Given the description of an element on the screen output the (x, y) to click on. 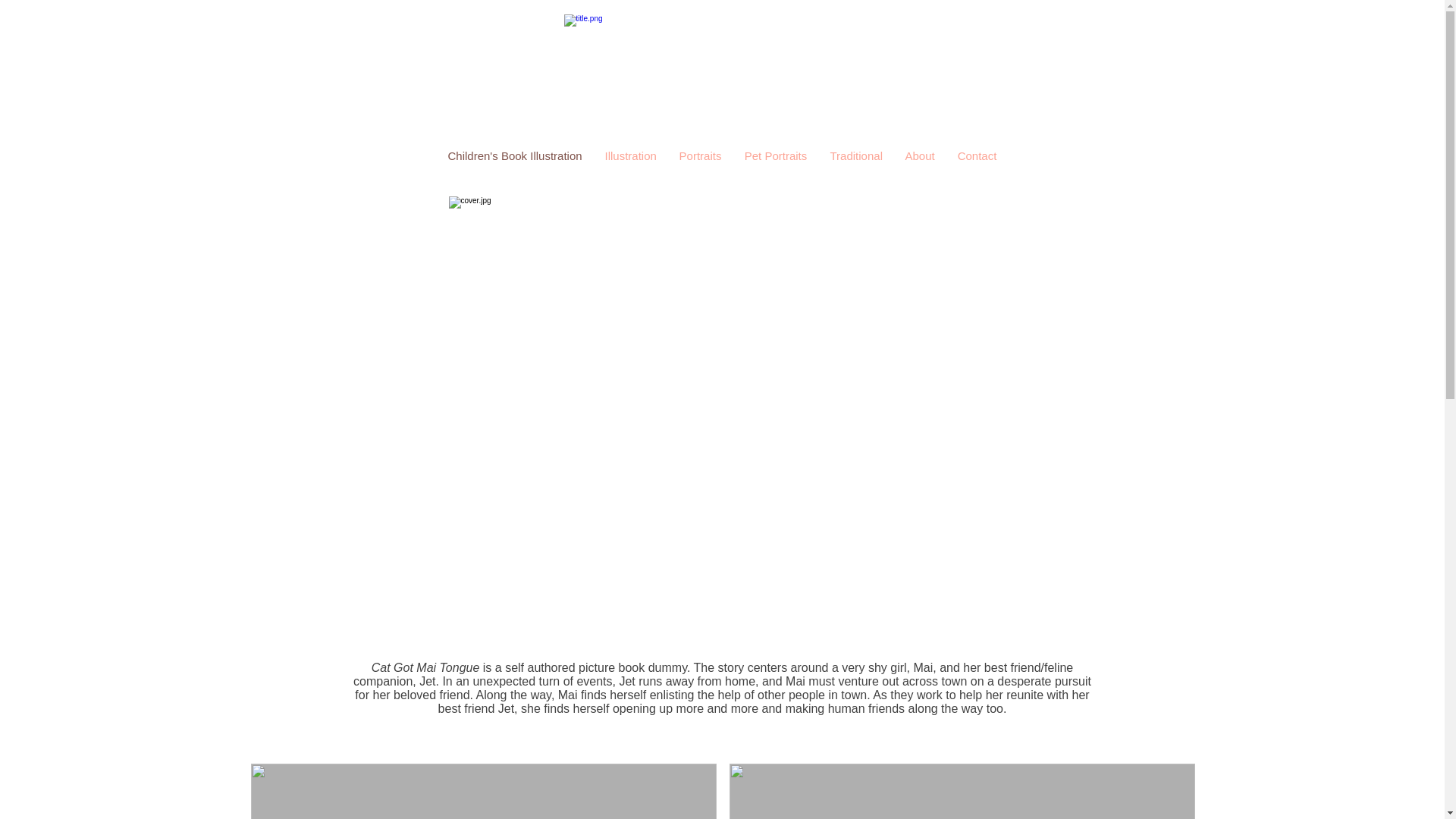
Portraits (699, 156)
About (918, 156)
Traditional (855, 156)
Contact (977, 156)
Pet Portraits (775, 156)
Children's Book Illustration (515, 156)
Illustration (629, 156)
